Given the description of an element on the screen output the (x, y) to click on. 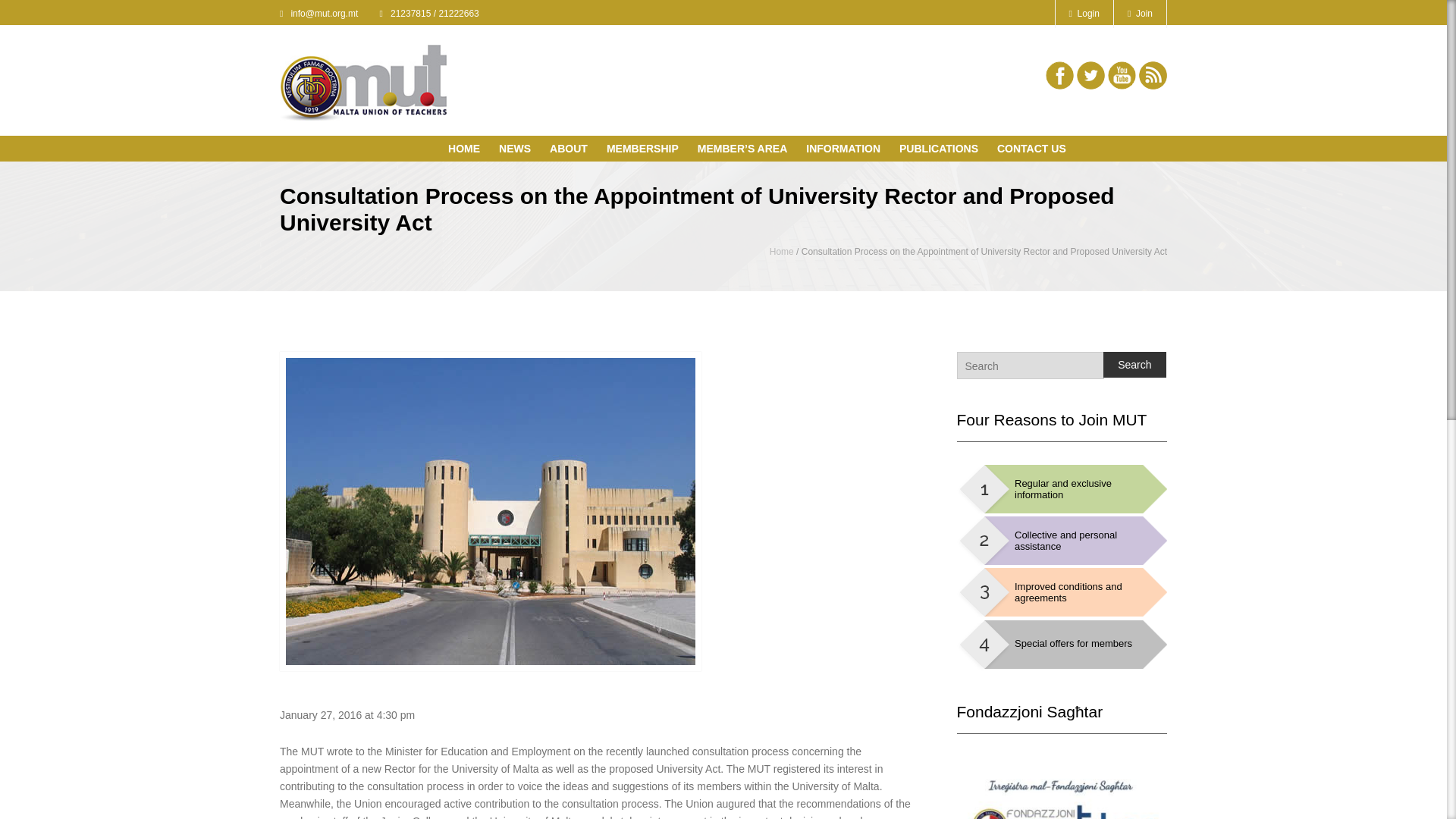
  Login (1083, 13)
MEMBERSHIP (646, 150)
HOME (467, 150)
NEWS (518, 150)
Search (1134, 364)
ABOUT (572, 150)
  Join (1140, 13)
